Given the description of an element on the screen output the (x, y) to click on. 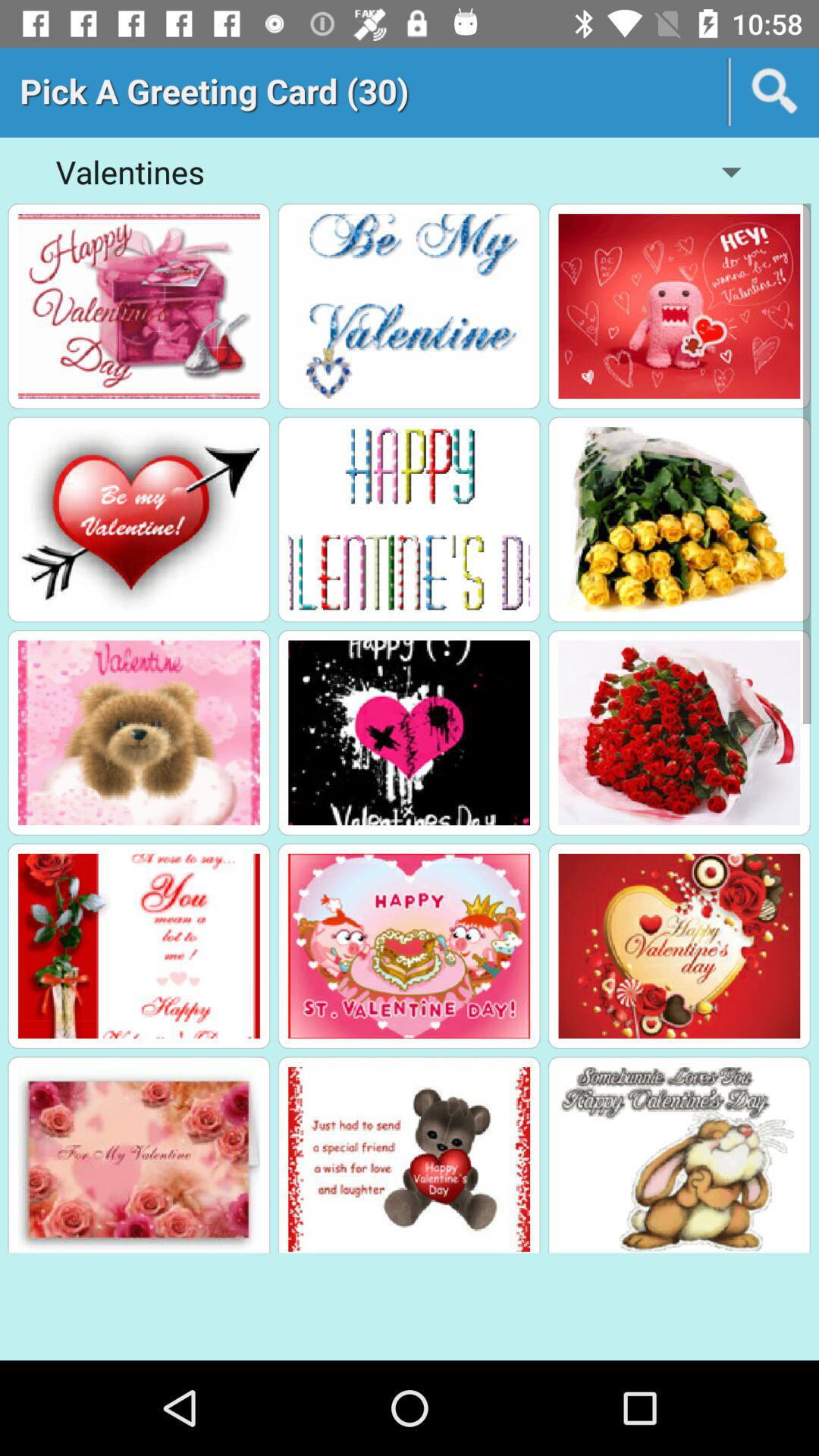
open search bar (774, 91)
